Given the description of an element on the screen output the (x, y) to click on. 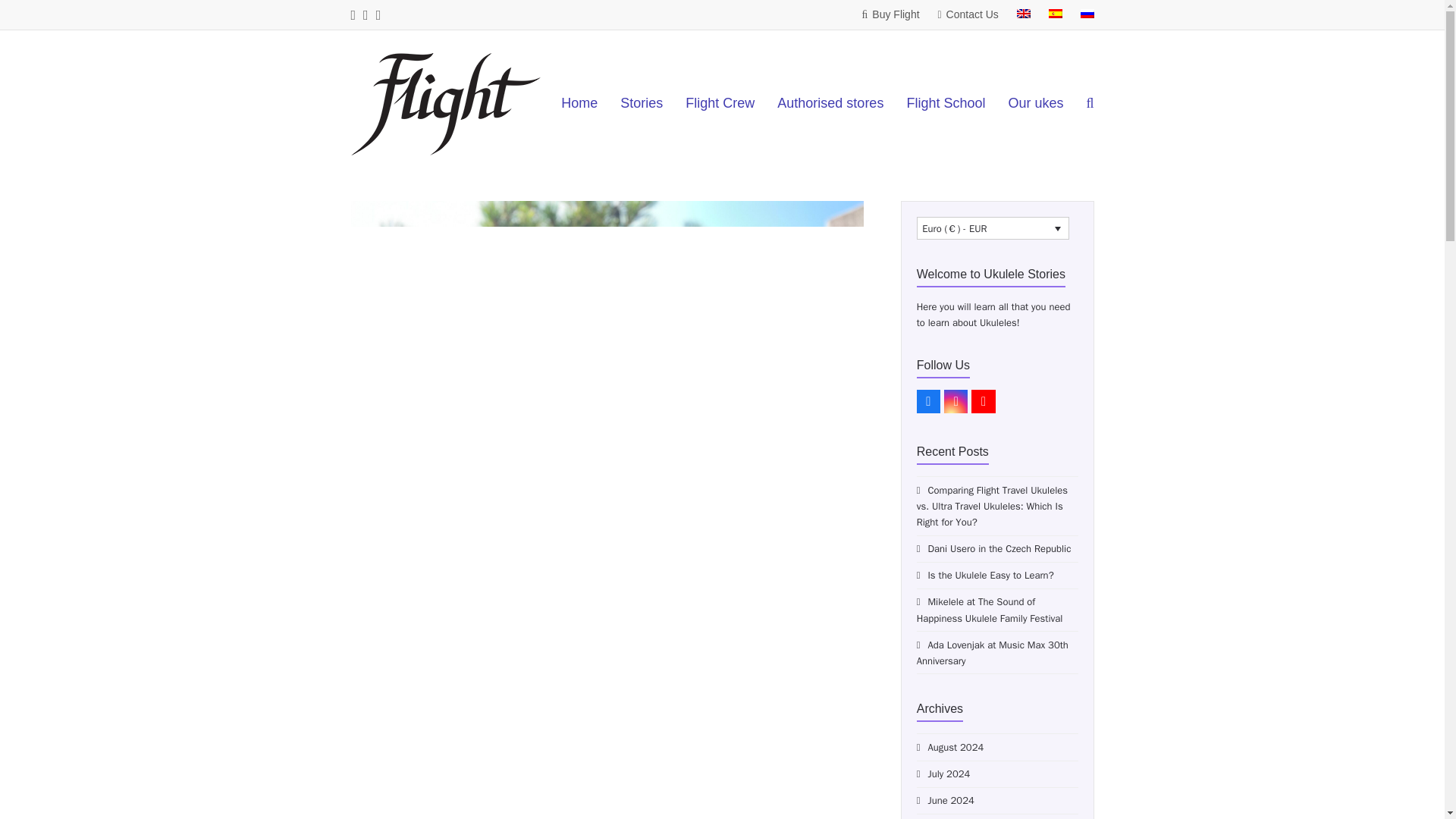
Flight Crew (719, 104)
Flight School (945, 104)
YouTube (982, 401)
Contact Us (967, 14)
YouTube (982, 401)
Dani Usero in the Czech Republic (994, 548)
Stories (641, 104)
Is the Ukulele Easy to Learn? (985, 574)
Facebook (928, 401)
Authorised stores (830, 104)
